Given the description of an element on the screen output the (x, y) to click on. 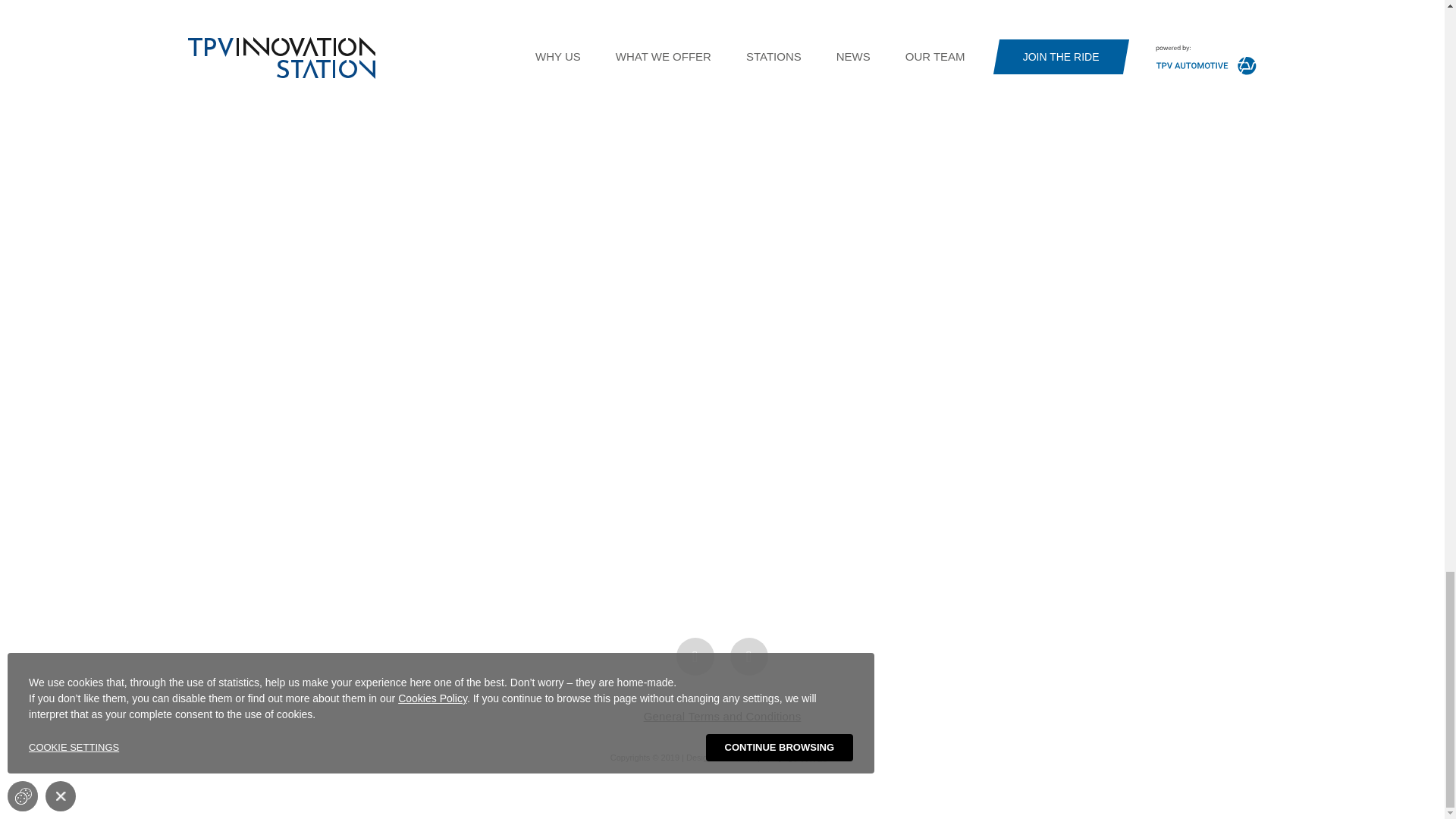
Facebook (748, 656)
Linkedin (695, 656)
General Terms and Conditions (722, 716)
